Given the description of an element on the screen output the (x, y) to click on. 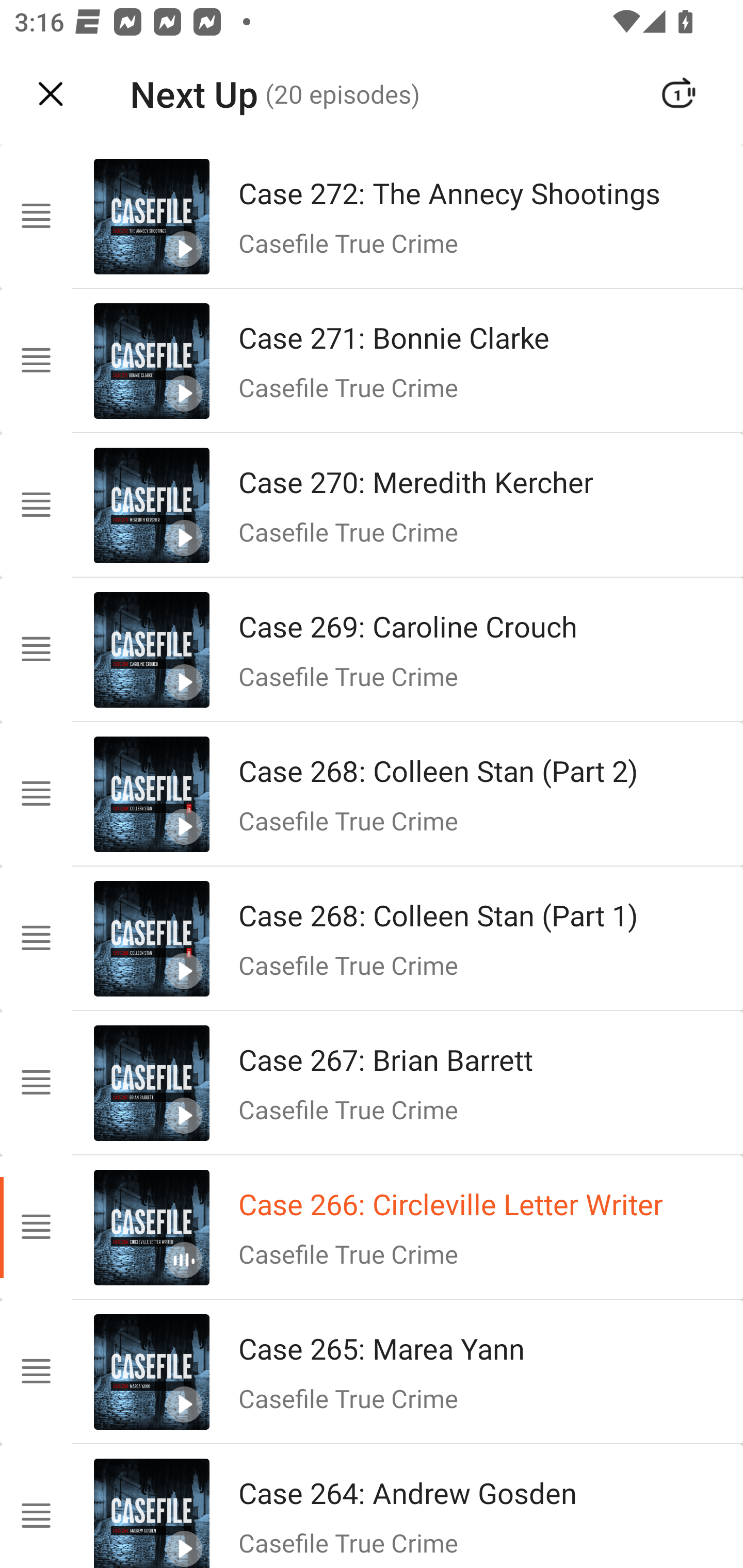
Navigate up (50, 93)
